Given the description of an element on the screen output the (x, y) to click on. 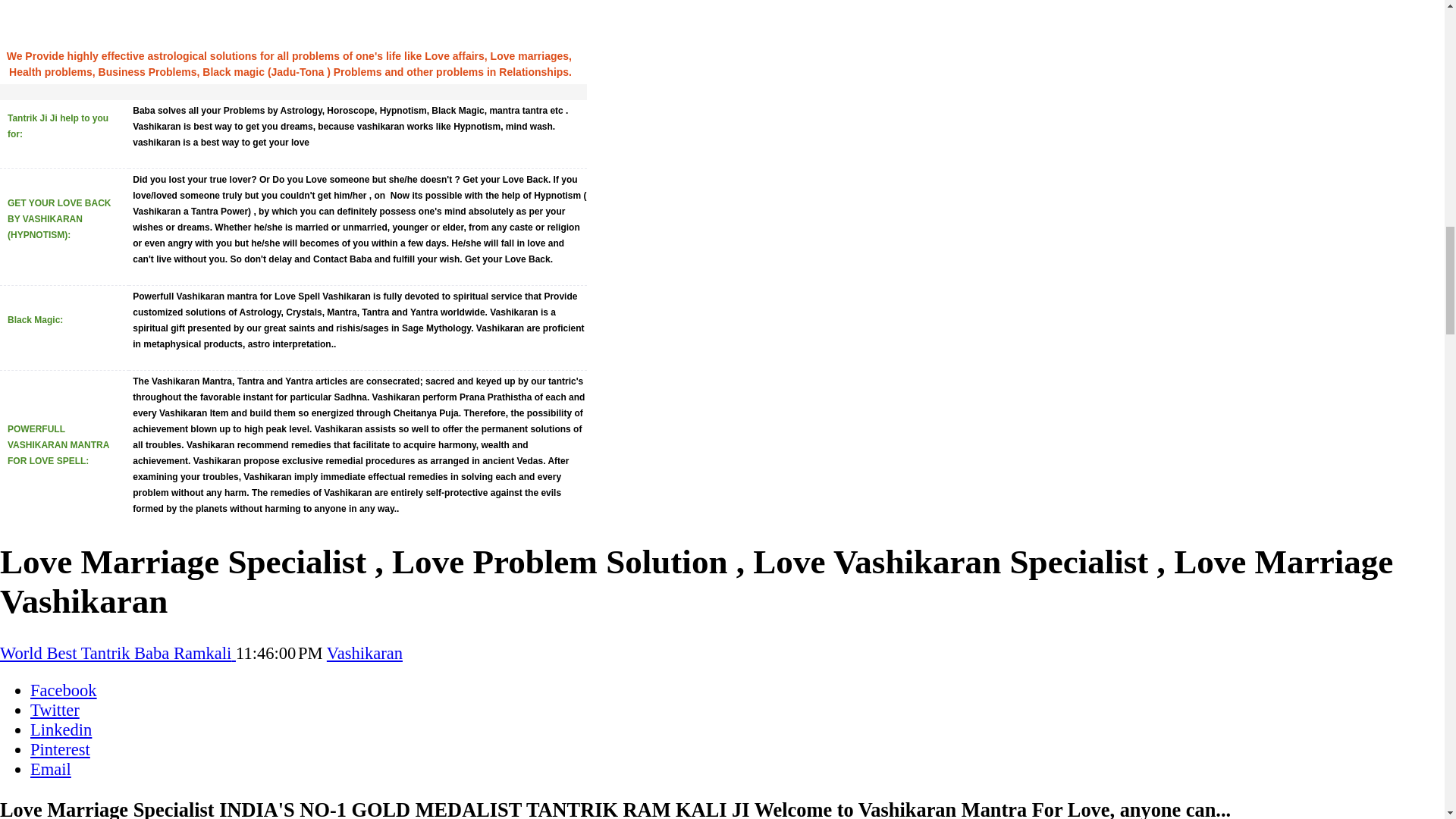
World Best Tantrik Baba Ramkali (117, 652)
Linkedin (60, 729)
Email (50, 769)
Pinterest (60, 749)
Share on Facebook! (63, 690)
Email (50, 769)
Twitter (55, 710)
Share on Linkedin! (60, 729)
Vashikaran (364, 652)
Facebook (63, 690)
Tweet on Twitter! (55, 710)
Pin it (60, 749)
